Given the description of an element on the screen output the (x, y) to click on. 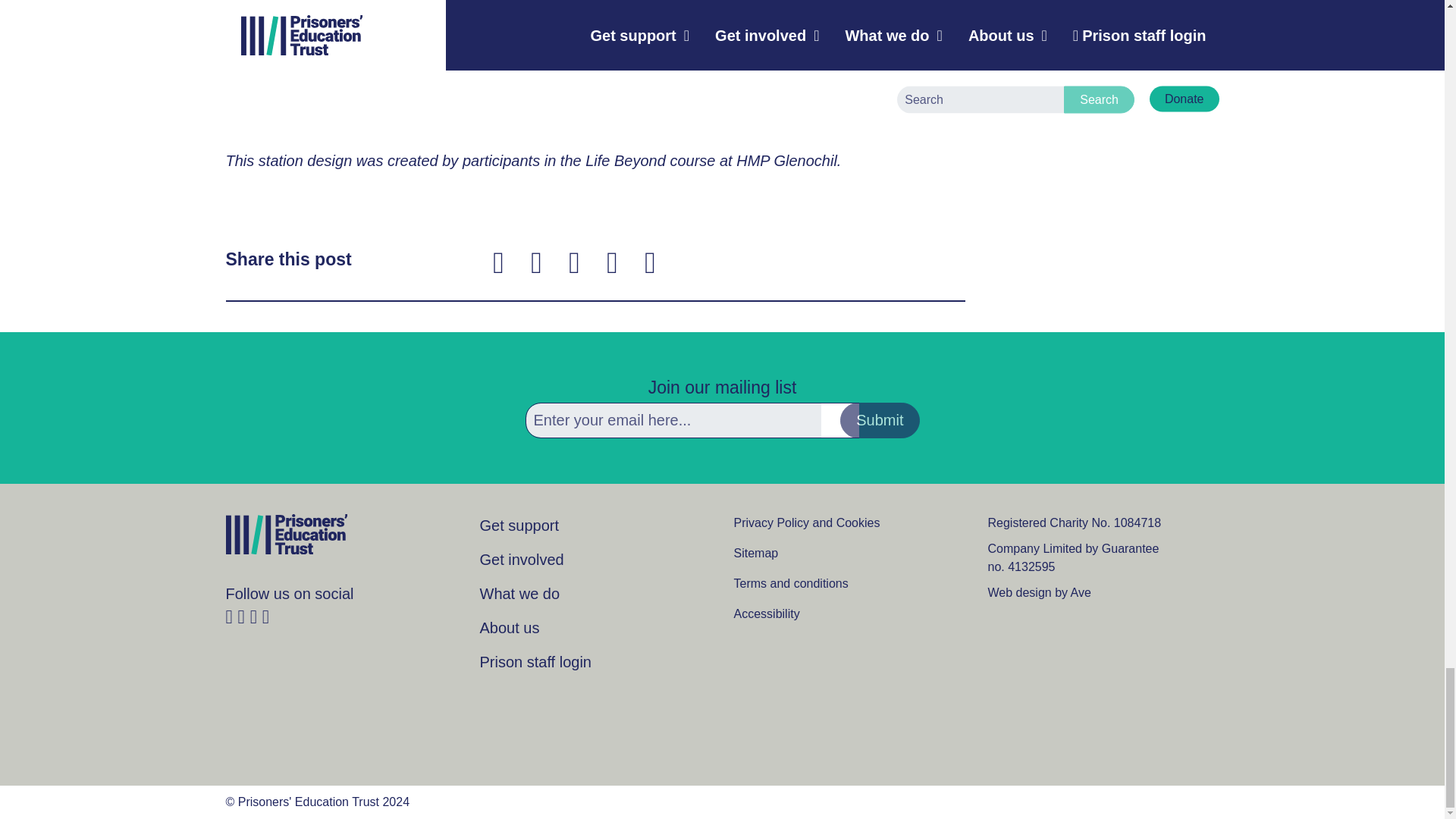
Submit (879, 420)
